Given the description of an element on the screen output the (x, y) to click on. 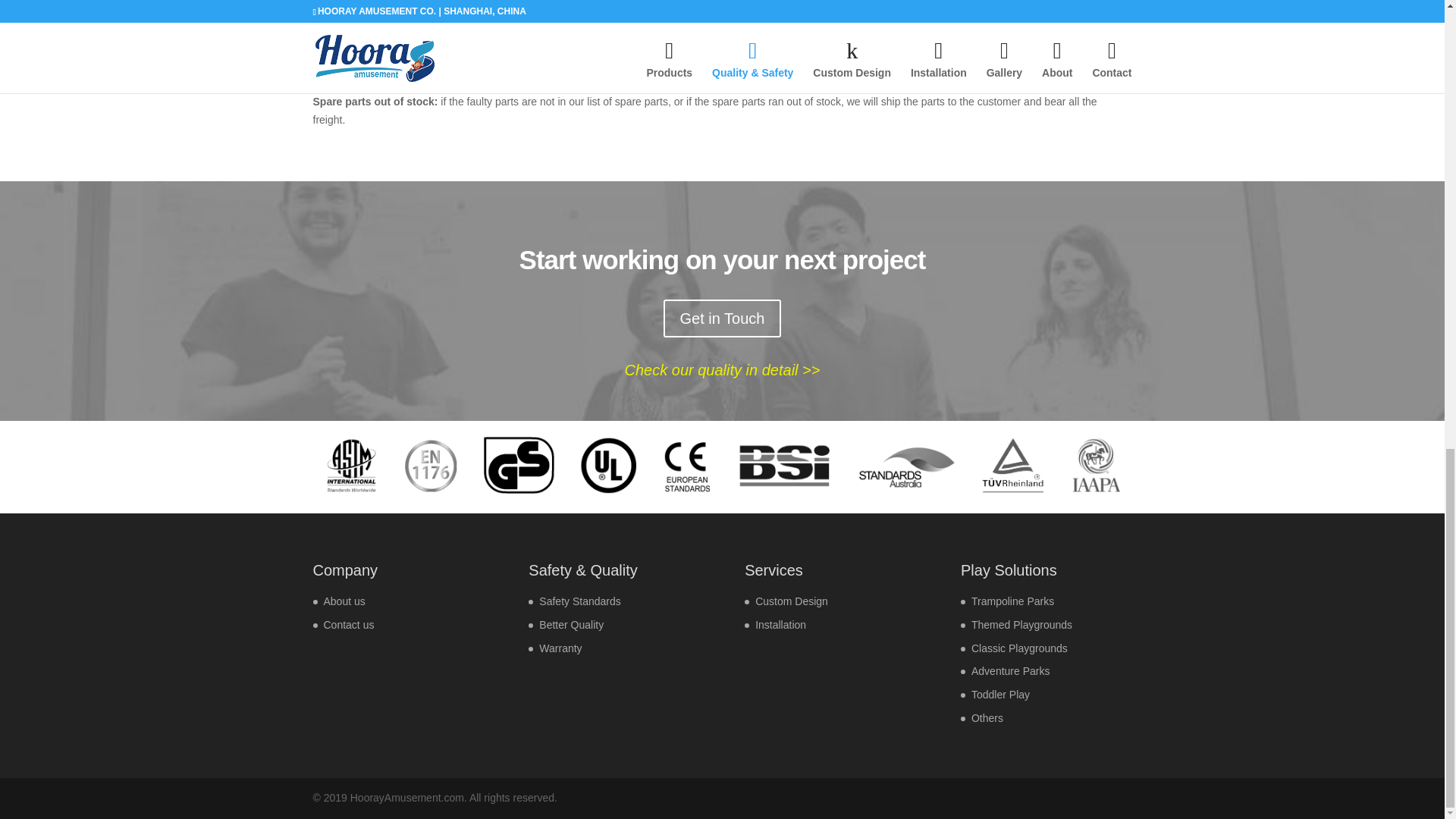
Contact us (348, 624)
About us (344, 601)
Get in Touch (722, 318)
Safety Standards (579, 601)
Better Quality (571, 624)
